Given the description of an element on the screen output the (x, y) to click on. 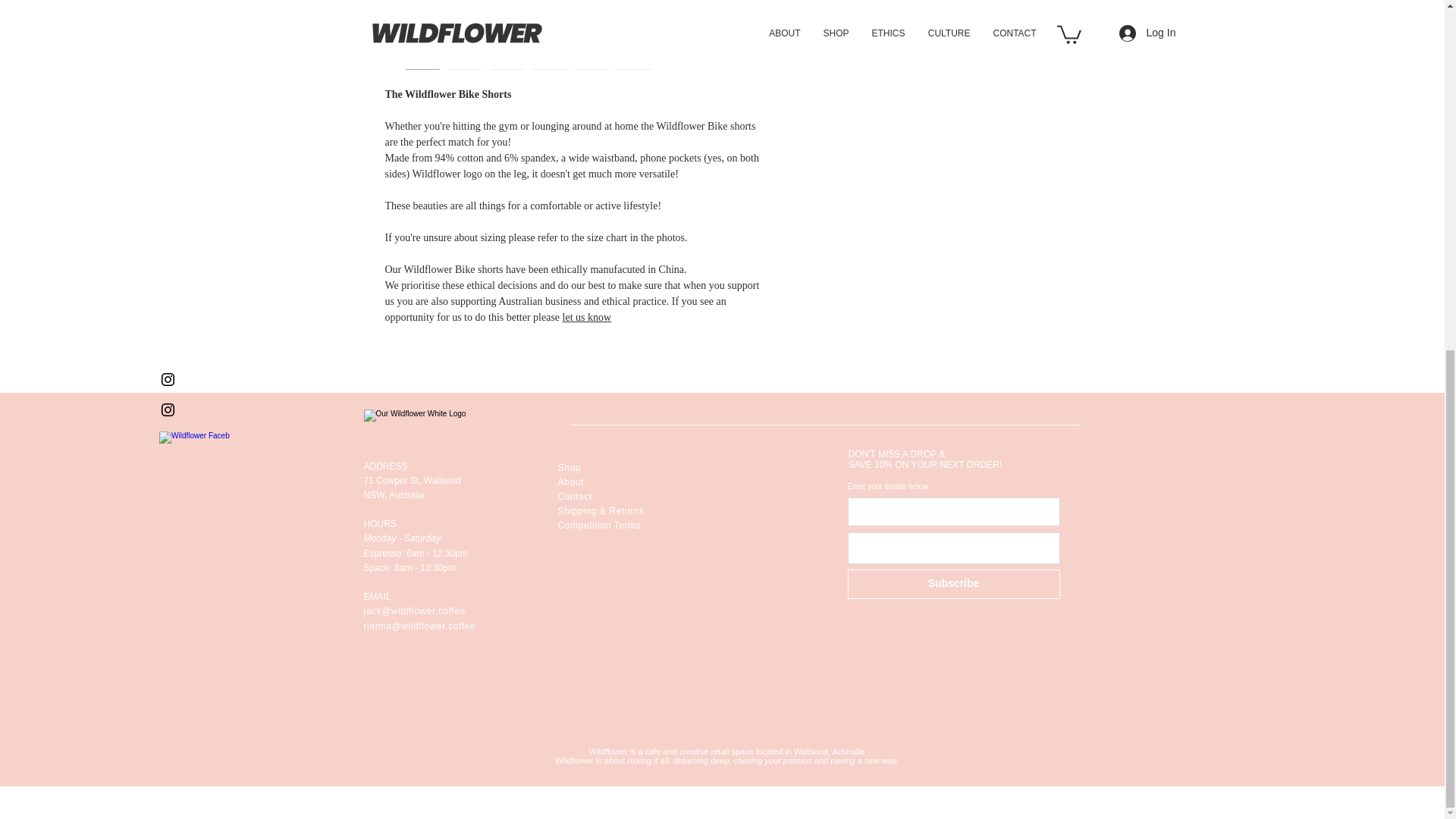
Shop (568, 467)
Competition Terms (599, 525)
Subscribe (953, 583)
let us know (586, 316)
Contact (574, 496)
About (570, 481)
